Given the description of an element on the screen output the (x, y) to click on. 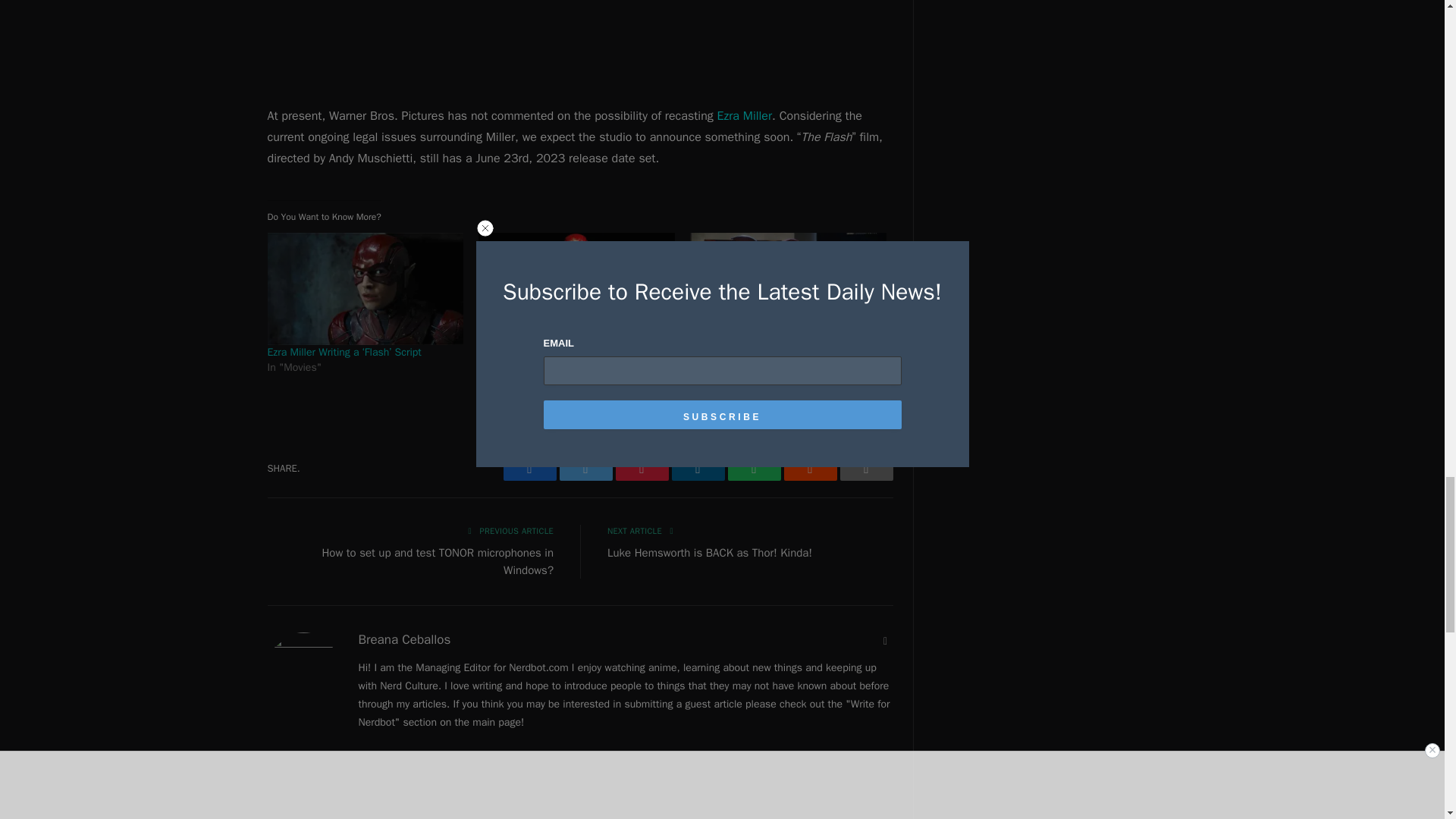
Ezra Miller (745, 115)
